Given the description of an element on the screen output the (x, y) to click on. 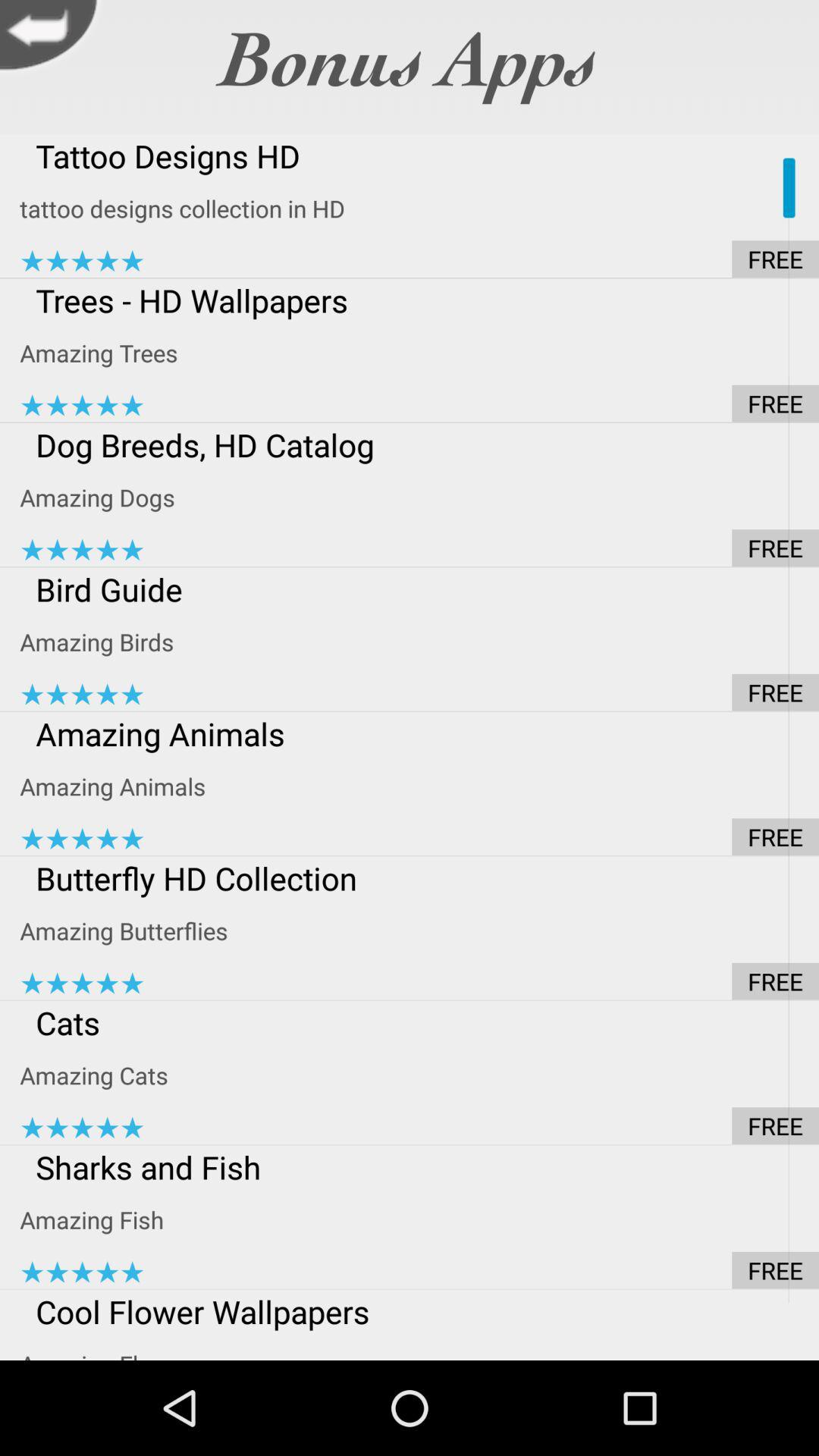
jump until cool flower wallpapers  item (419, 1311)
